Given the description of an element on the screen output the (x, y) to click on. 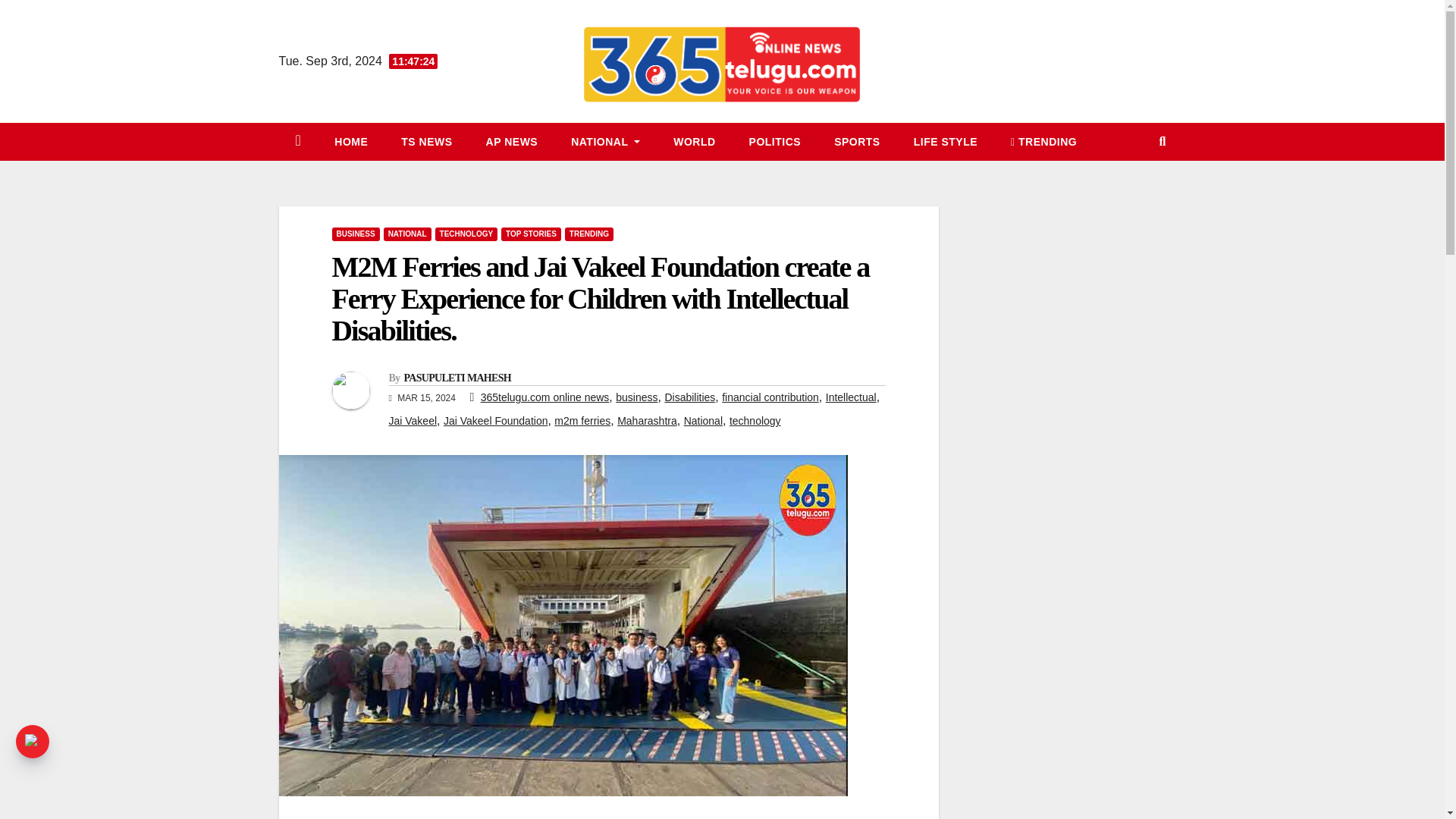
World (694, 141)
LIFE STYLE (945, 141)
TS News (426, 141)
TOP STORIES (530, 233)
BUSINESS (355, 233)
AP NEWS (511, 141)
NATIONAL (407, 233)
POLITICS (775, 141)
National (605, 141)
AP News (511, 141)
